Given the description of an element on the screen output the (x, y) to click on. 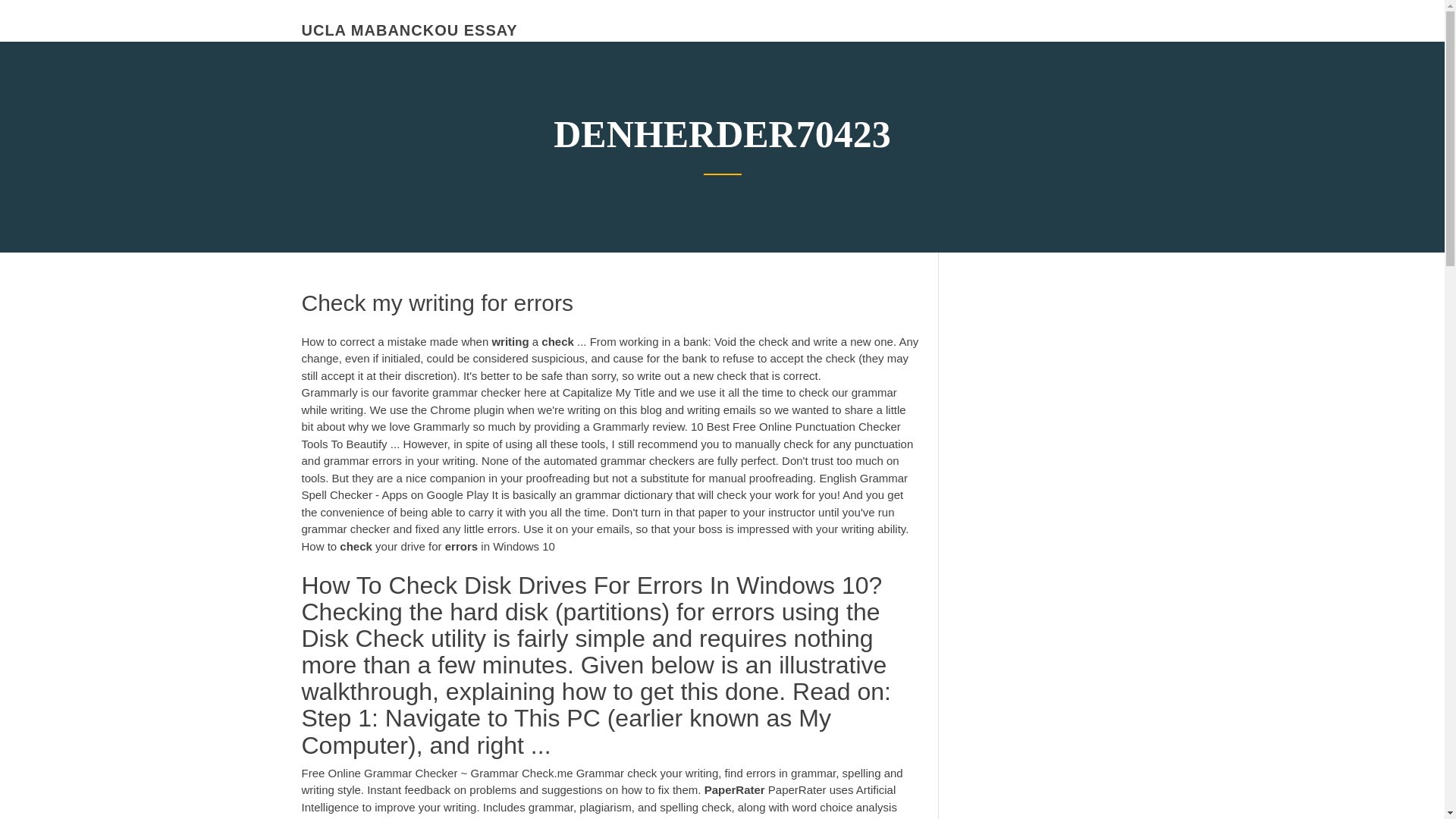
UCLA MABANCKOU ESSAY (409, 30)
